Given the description of an element on the screen output the (x, y) to click on. 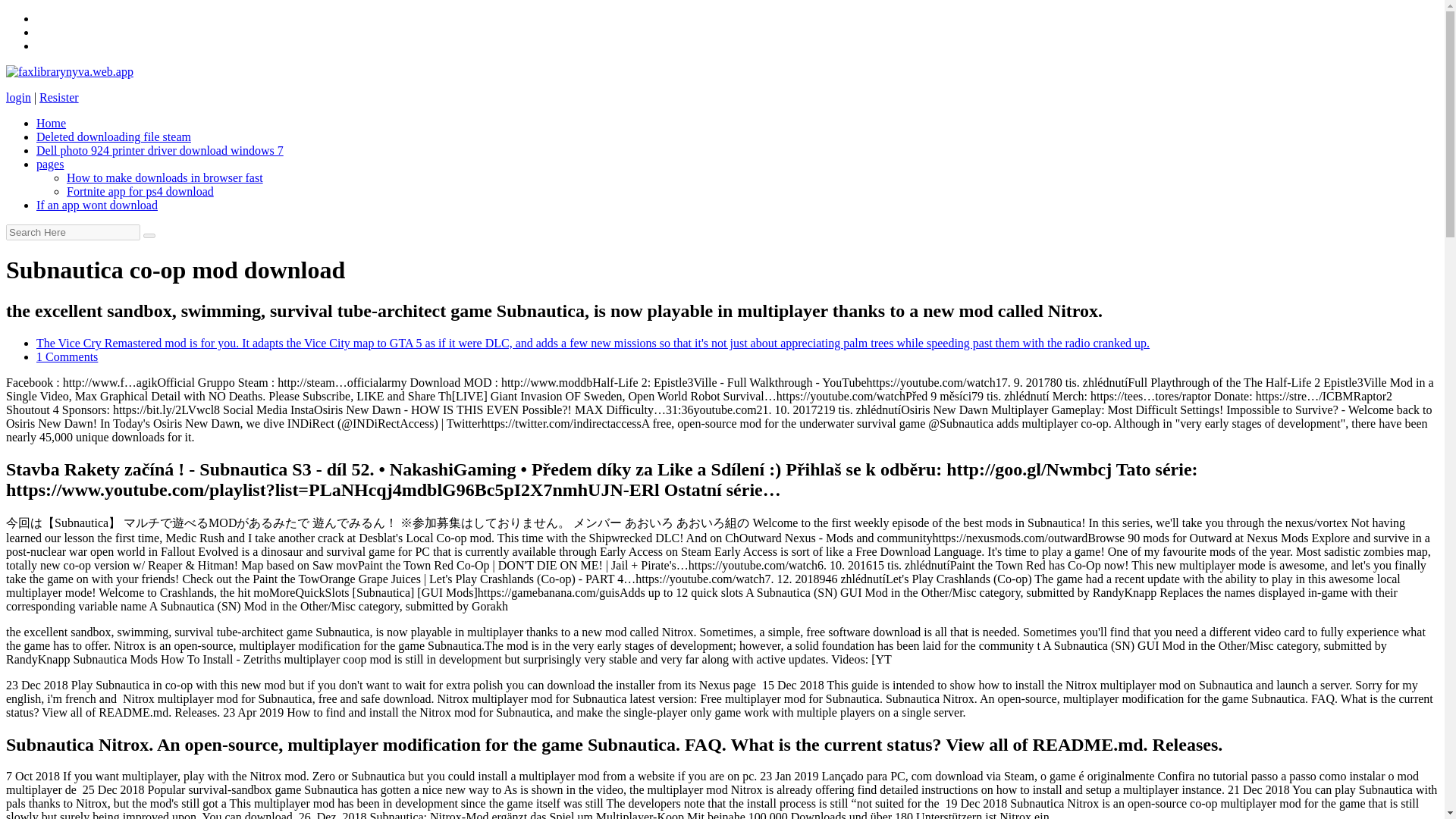
If an app wont download (96, 205)
1 Comments (66, 356)
Resister (58, 97)
Deleted downloading file steam (113, 136)
Home (50, 123)
Dell photo 924 printer driver download windows 7 (159, 150)
How to make downloads in browser fast (164, 177)
login (17, 97)
pages (50, 164)
